Given the description of an element on the screen output the (x, y) to click on. 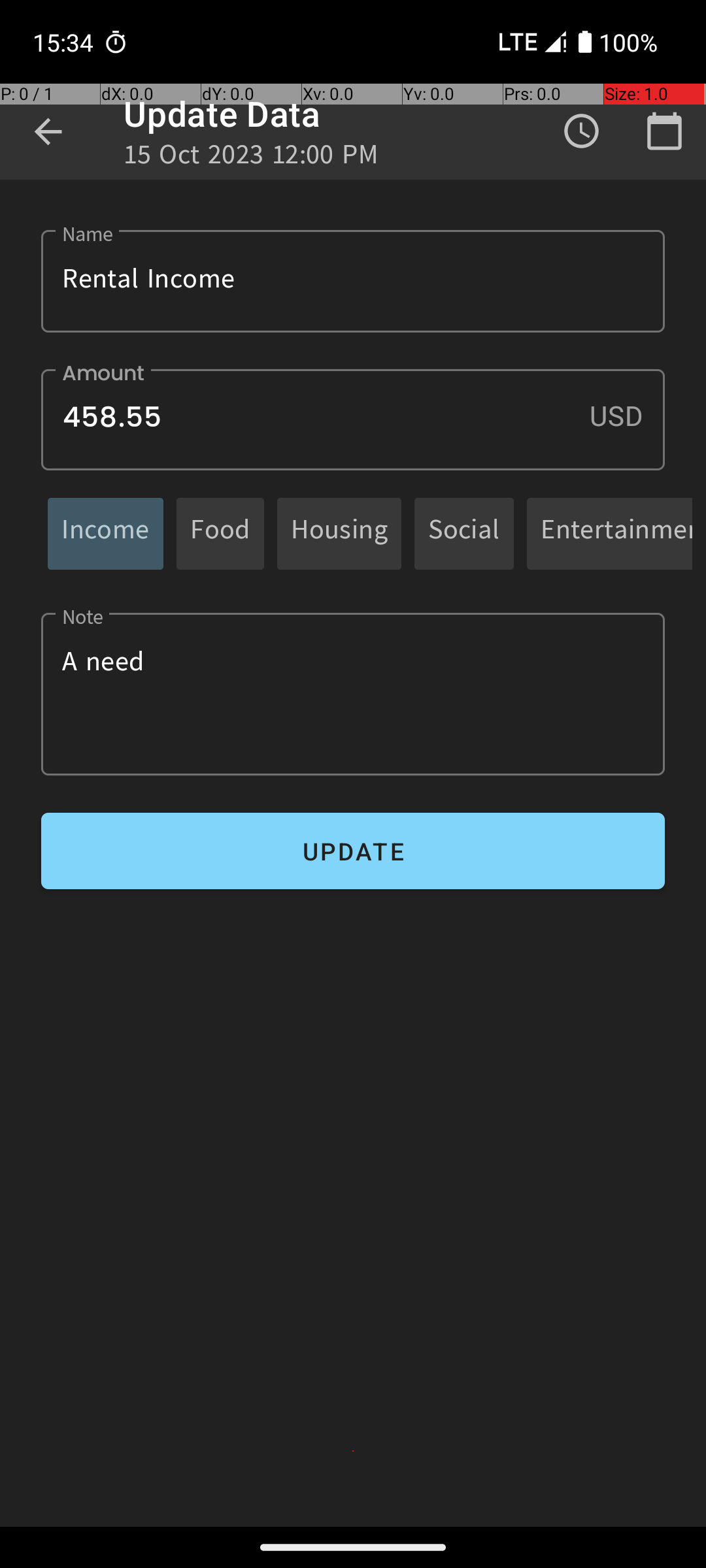
15 Oct 2023 12:00 PM Element type: android.widget.TextView (250, 157)
458.55 Element type: android.widget.EditText (352, 419)
